Given the description of an element on the screen output the (x, y) to click on. 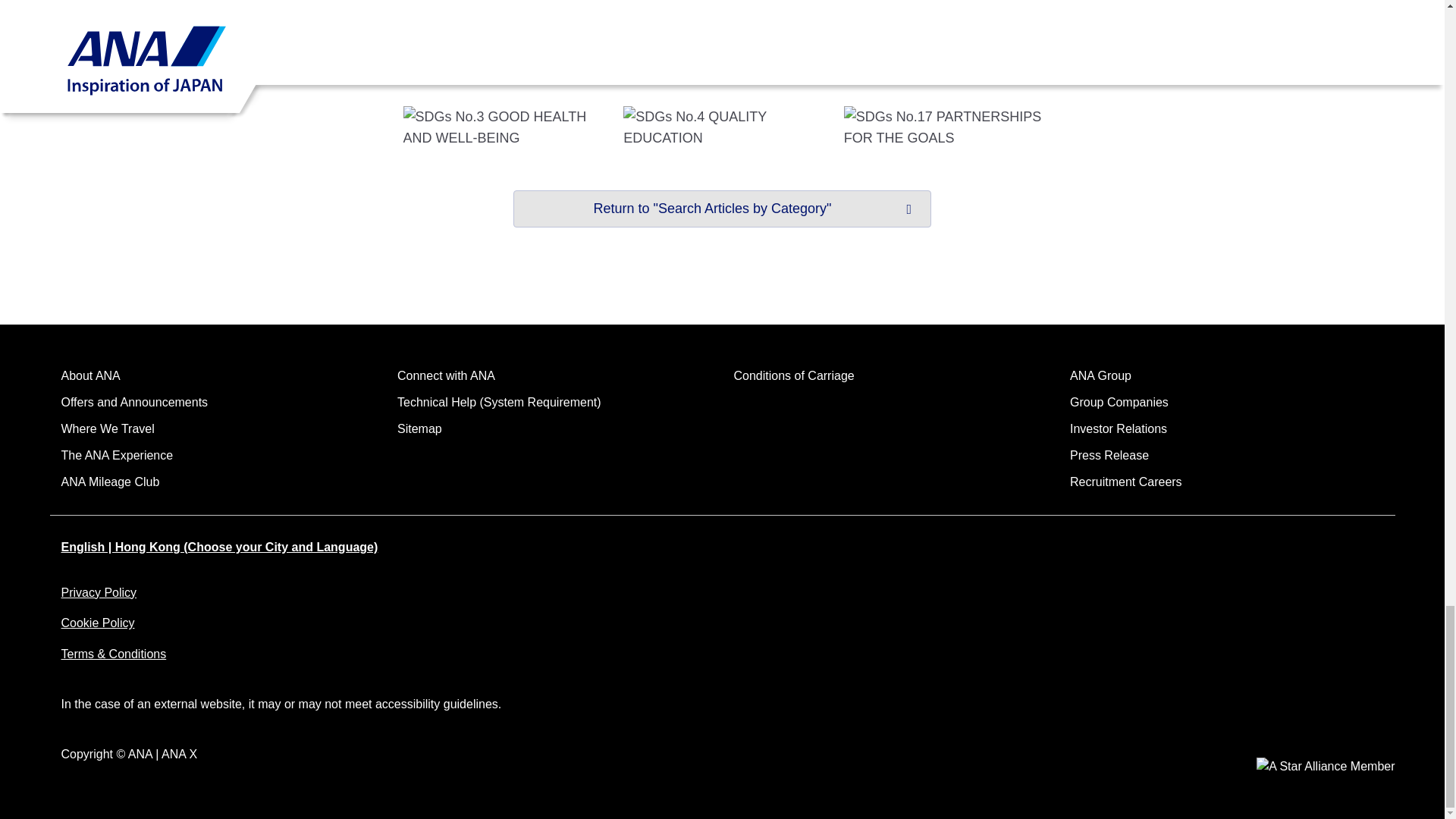
The ANA Experience (117, 454)
Connect with ANA (446, 375)
Sitemap (419, 428)
Where We Travel (107, 428)
Privacy Policy (98, 592)
About ANA (90, 375)
Investor Relations (1118, 428)
Cookie Policy (97, 622)
Group Companies (1119, 401)
Conditions of Carriage (793, 375)
